Given the description of an element on the screen output the (x, y) to click on. 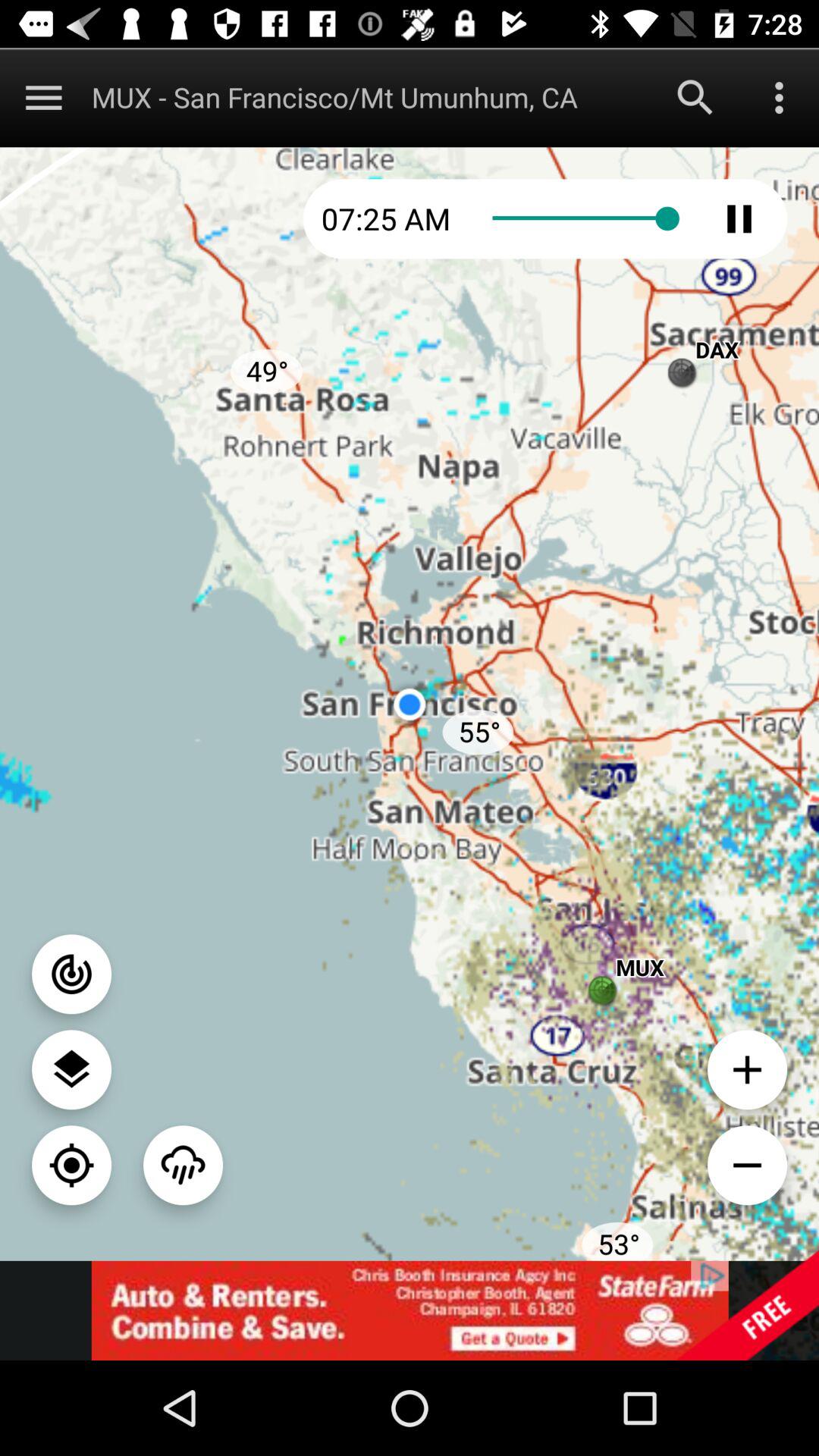
minimize (747, 1165)
